Given the description of an element on the screen output the (x, y) to click on. 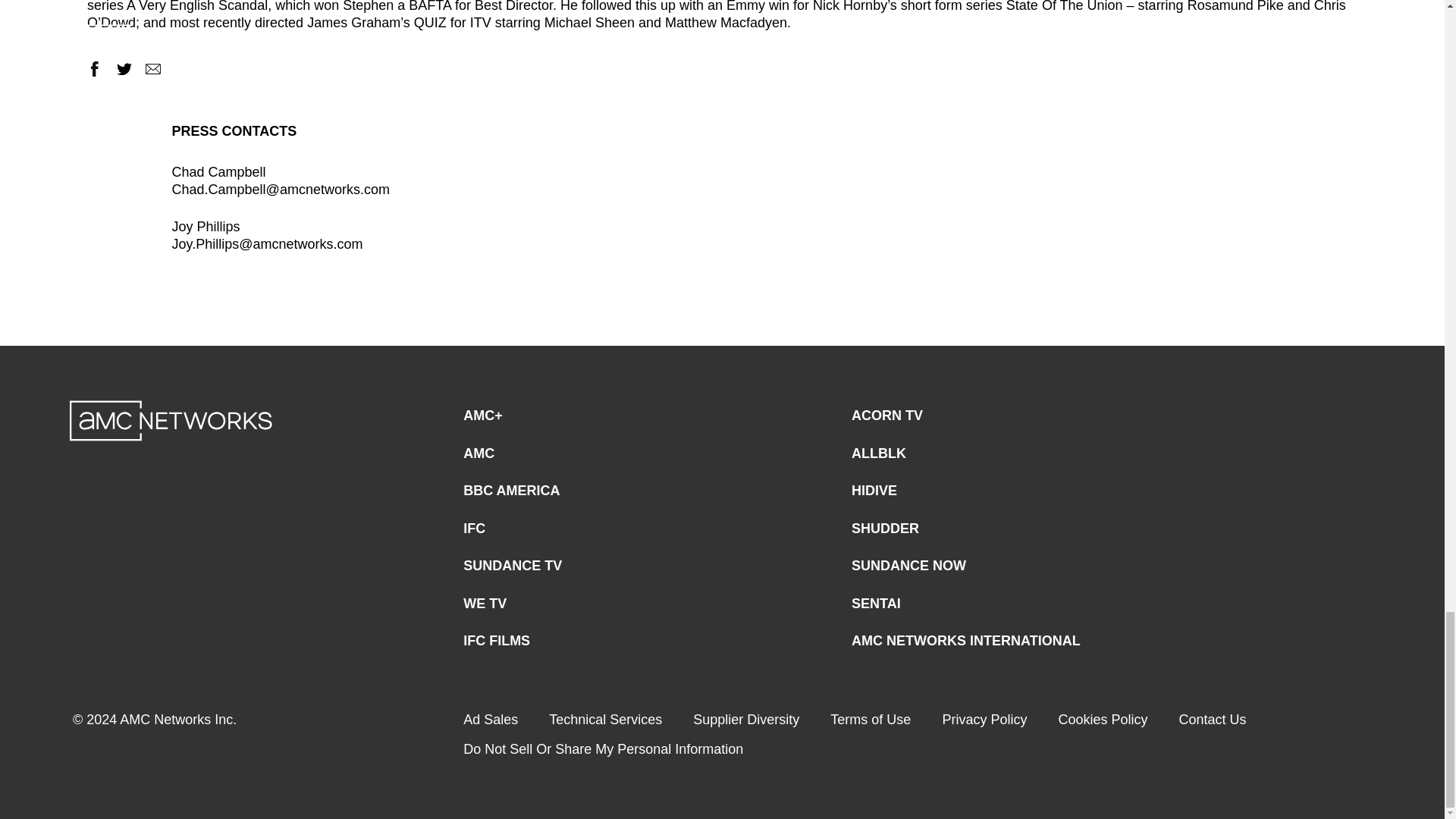
AMC Networks (170, 420)
